Given the description of an element on the screen output the (x, y) to click on. 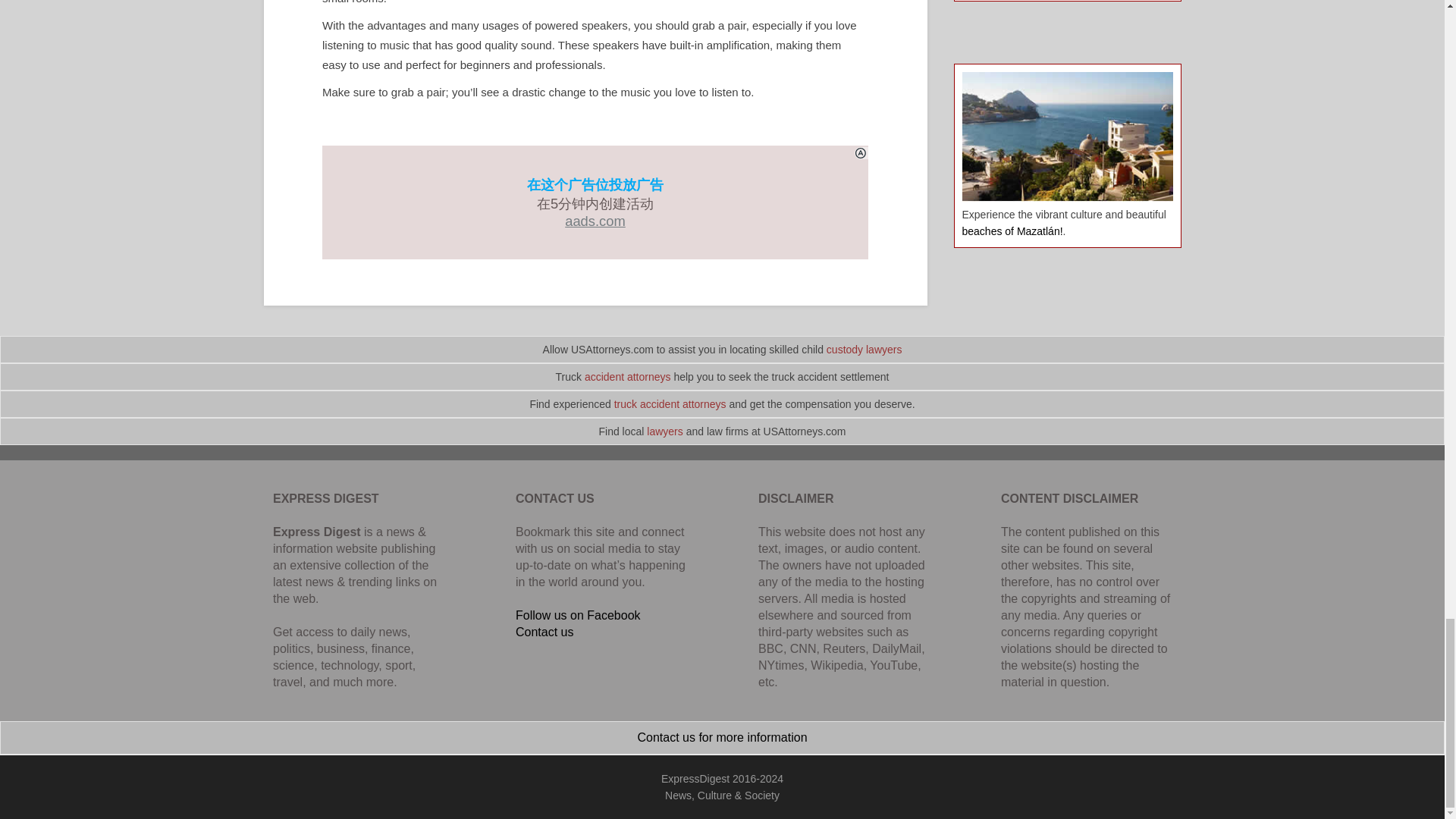
accident attorneys (628, 377)
custody lawyers (864, 349)
truck accident attorneys (670, 404)
